Given the description of an element on the screen output the (x, y) to click on. 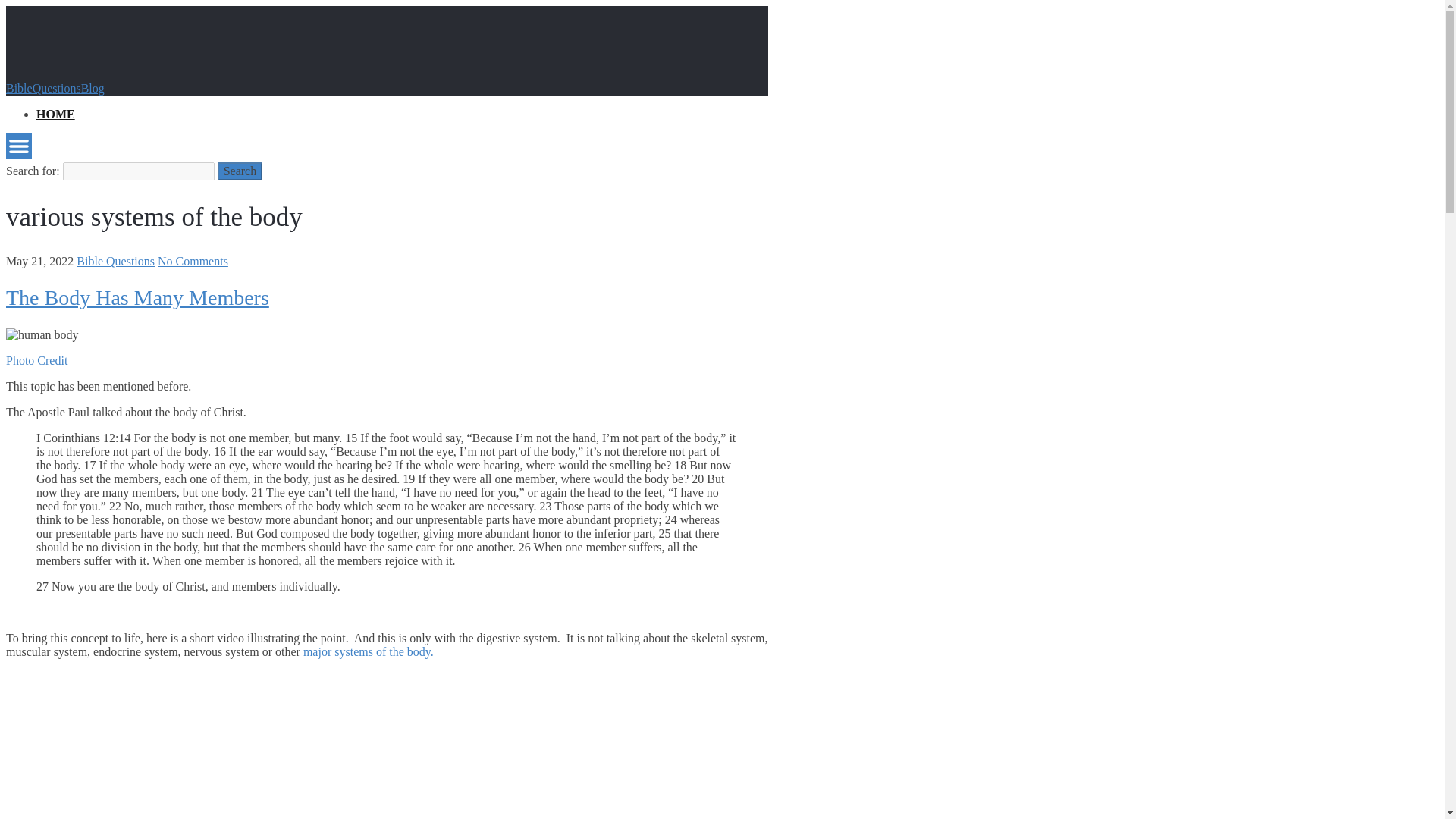
Bible Questions (115, 260)
YouTube video player (217, 757)
The Body Has Many Members (137, 297)
BibleQuestionsBlog (54, 88)
HOME (55, 113)
Photo Credit (35, 359)
No Comments (192, 260)
Search (239, 171)
major systems of the body. (367, 651)
